Given the description of an element on the screen output the (x, y) to click on. 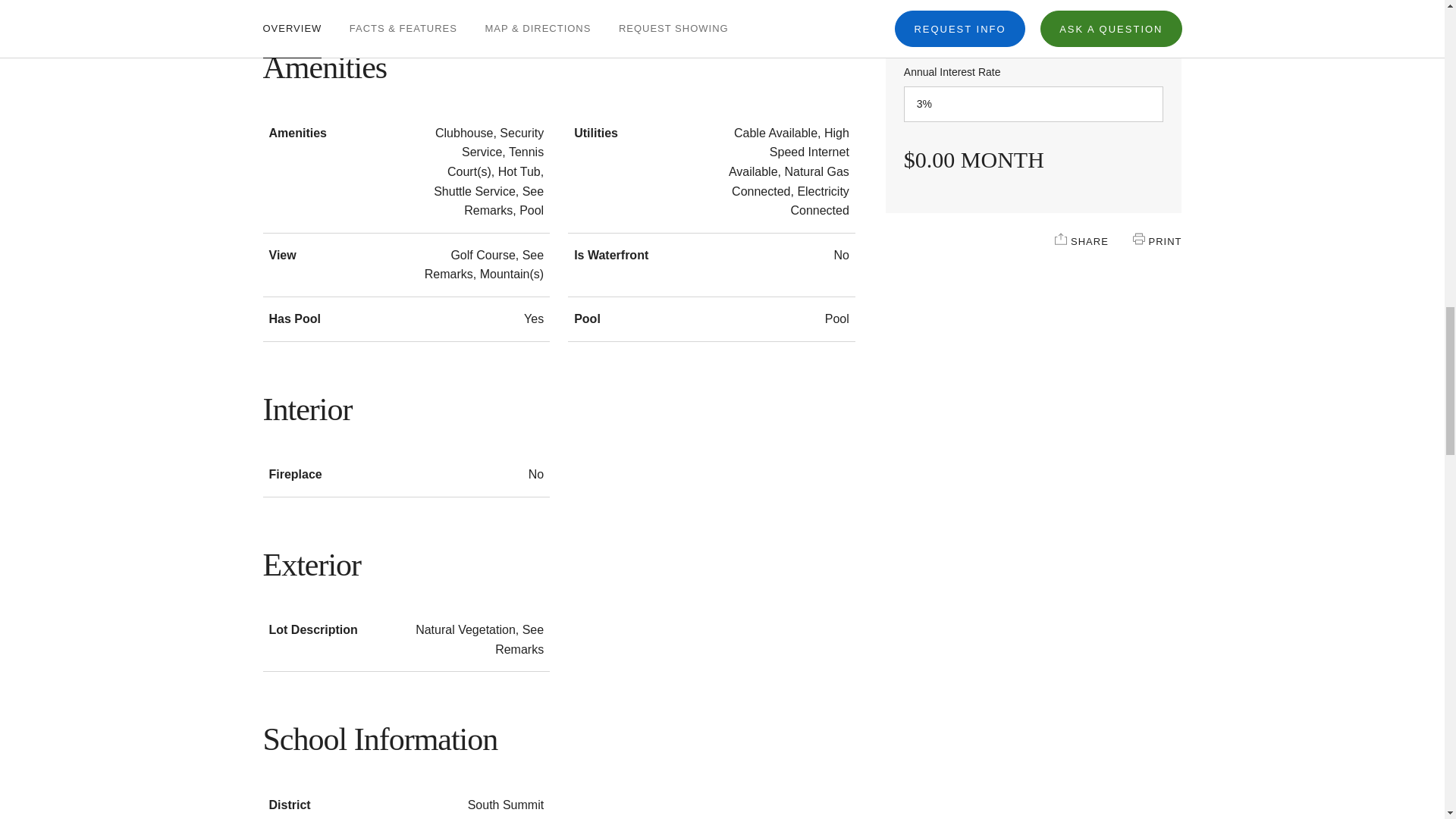
SHARE (1060, 238)
PRINT (1138, 238)
30 Years (1033, 22)
